Given the description of an element on the screen output the (x, y) to click on. 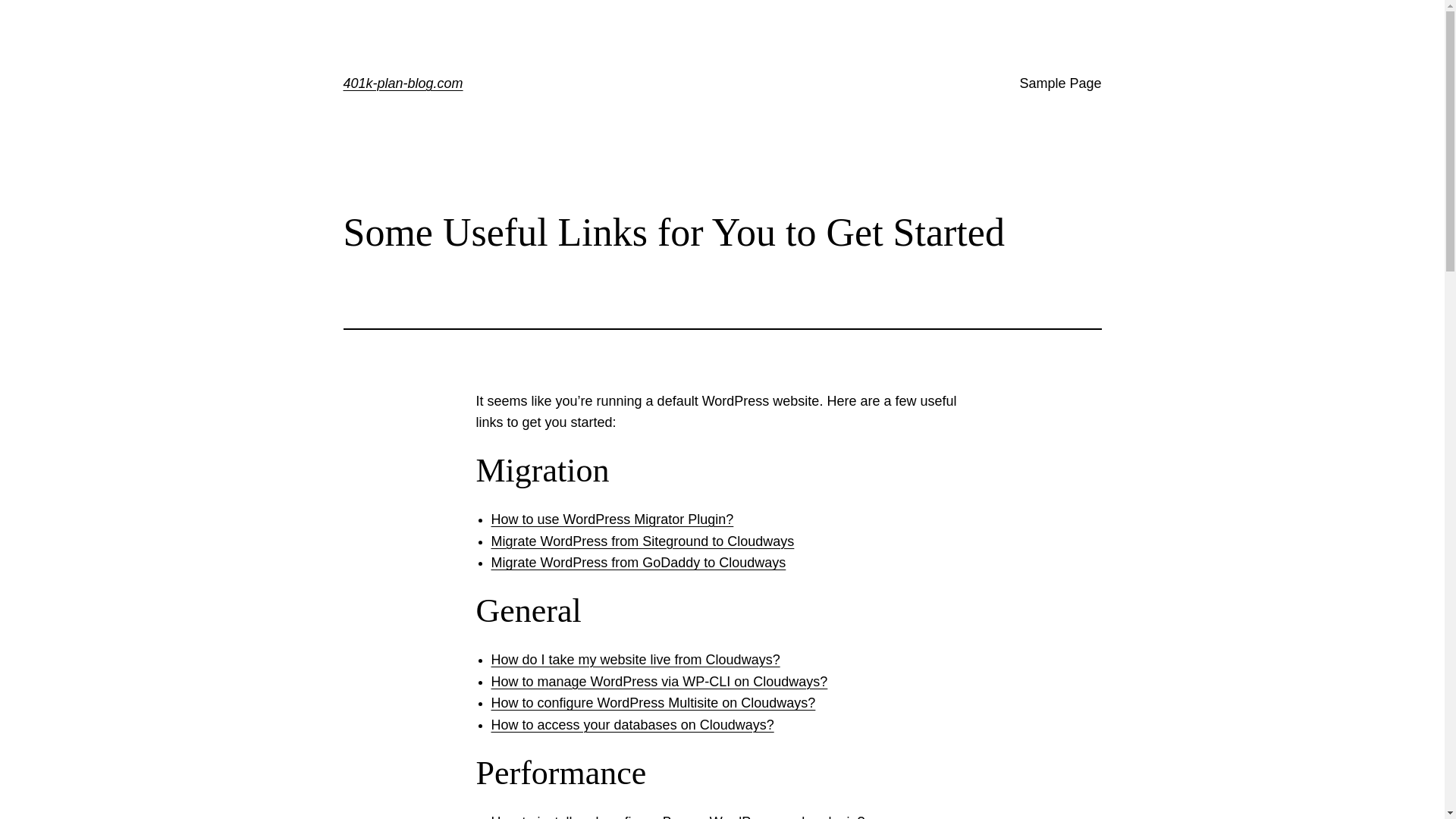
How to configure WordPress Multisite on Cloudways? Element type: text (653, 702)
Sample Page Element type: text (1060, 83)
How to manage WordPress via WP-CLI on Cloudways? Element type: text (659, 681)
Migrate WordPress from Siteground to Cloudways Element type: text (642, 541)
Migrate WordPress from GoDaddy to Cloudways Element type: text (638, 562)
How do I take my website live from Cloudways? Element type: text (635, 659)
401k-plan-blog.com Element type: text (402, 83)
How to use WordPress Migrator Plugin? Element type: text (612, 519)
How to access your databases on Cloudways? Element type: text (632, 724)
